Given the description of an element on the screen output the (x, y) to click on. 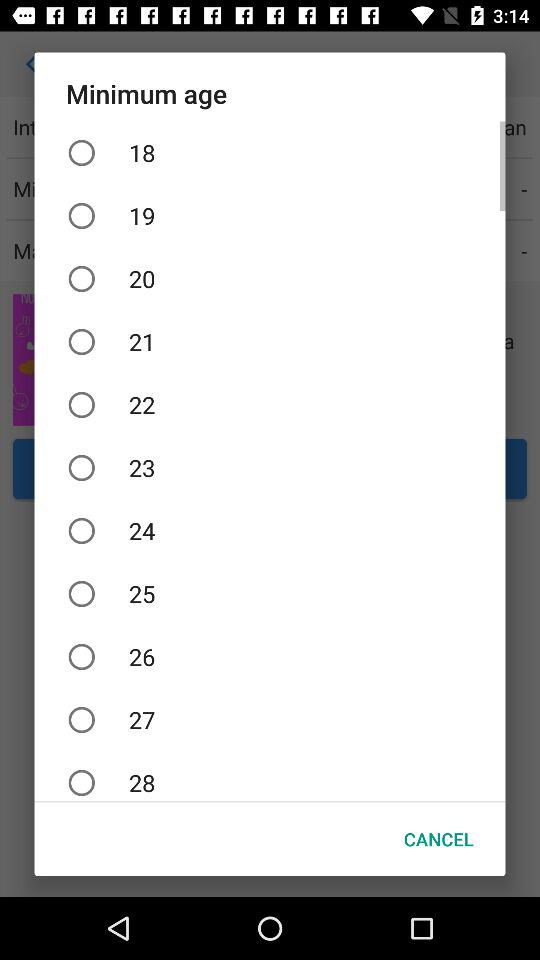
click the icon below the 28 icon (438, 838)
